Given the description of an element on the screen output the (x, y) to click on. 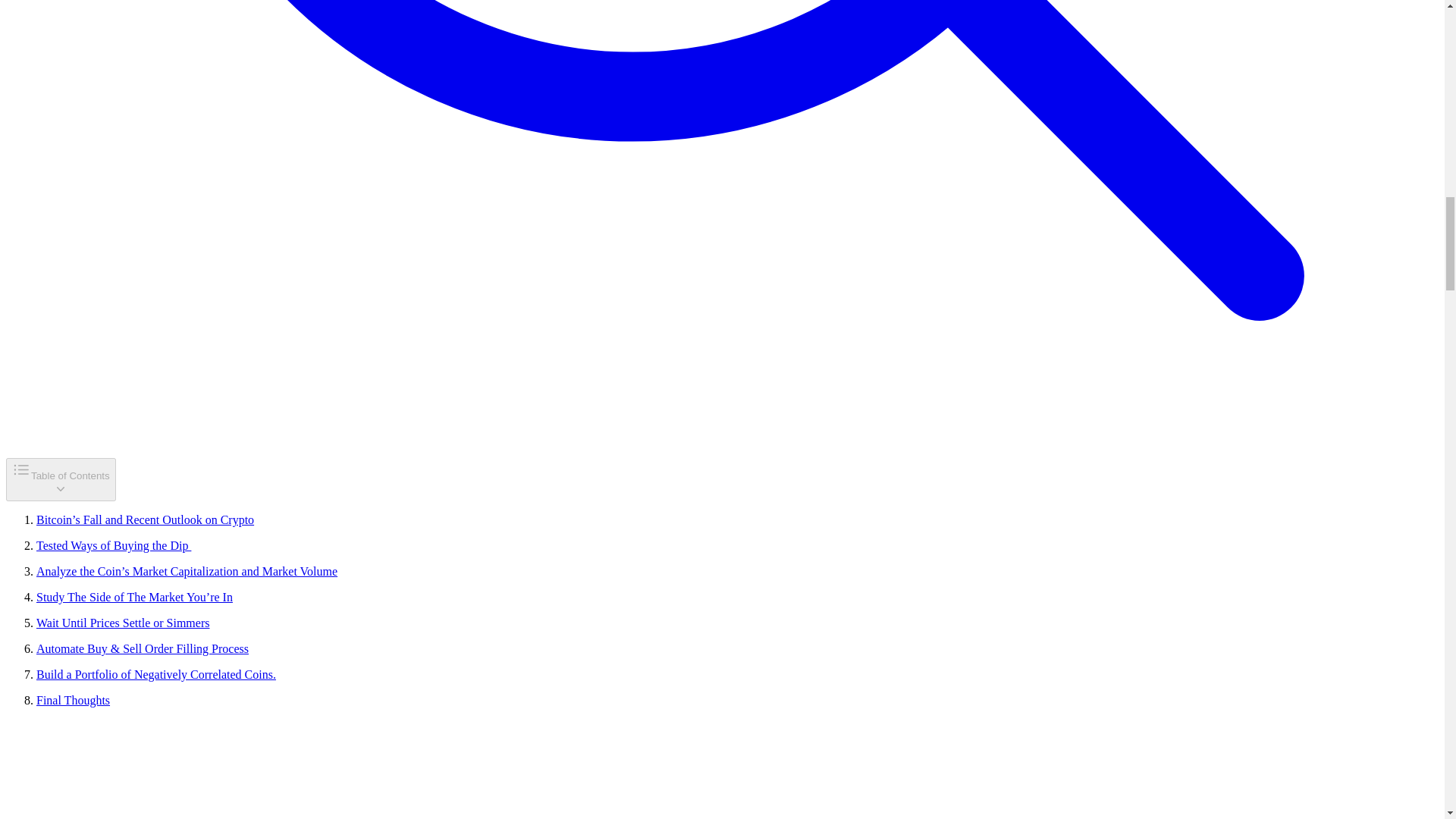
Table of Contents (60, 479)
